Given the description of an element on the screen output the (x, y) to click on. 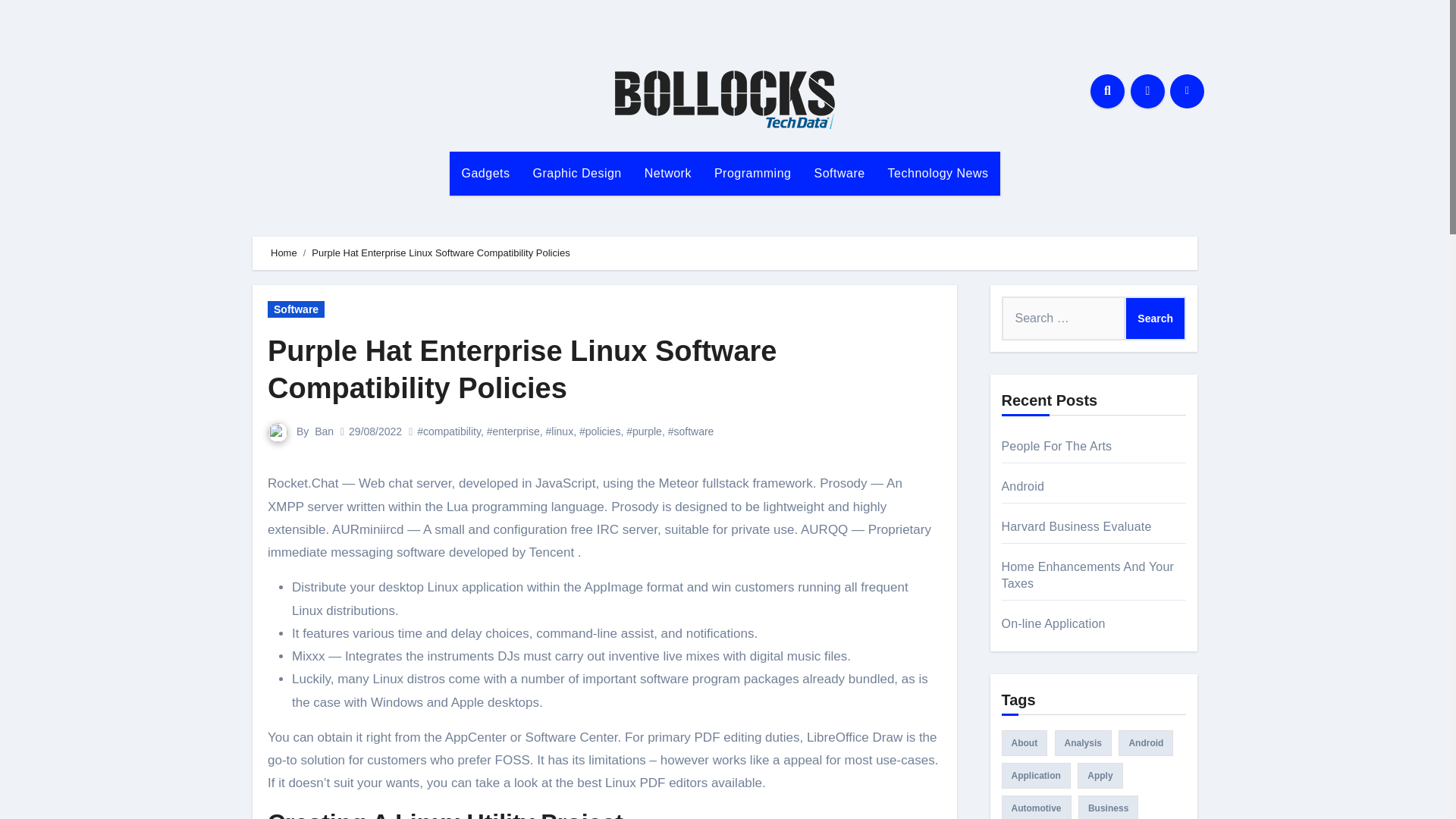
Purple Hat Enterprise Linux Software Compatibility Policies (521, 369)
Gadgets (485, 173)
Network (668, 173)
Technology News (938, 173)
Search (1155, 318)
Graphic Design (576, 173)
Software (295, 309)
Network (668, 173)
Ban (323, 431)
Programming (753, 173)
Graphic Design (576, 173)
Technology News (938, 173)
Software (839, 173)
Software (839, 173)
